Given the description of an element on the screen output the (x, y) to click on. 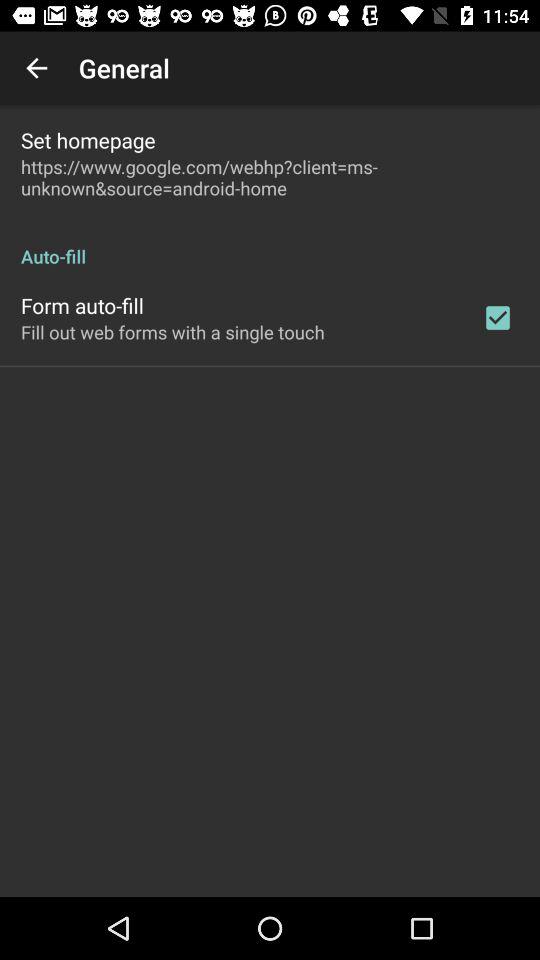
click app below auto-fill item (497, 317)
